Given the description of an element on the screen output the (x, y) to click on. 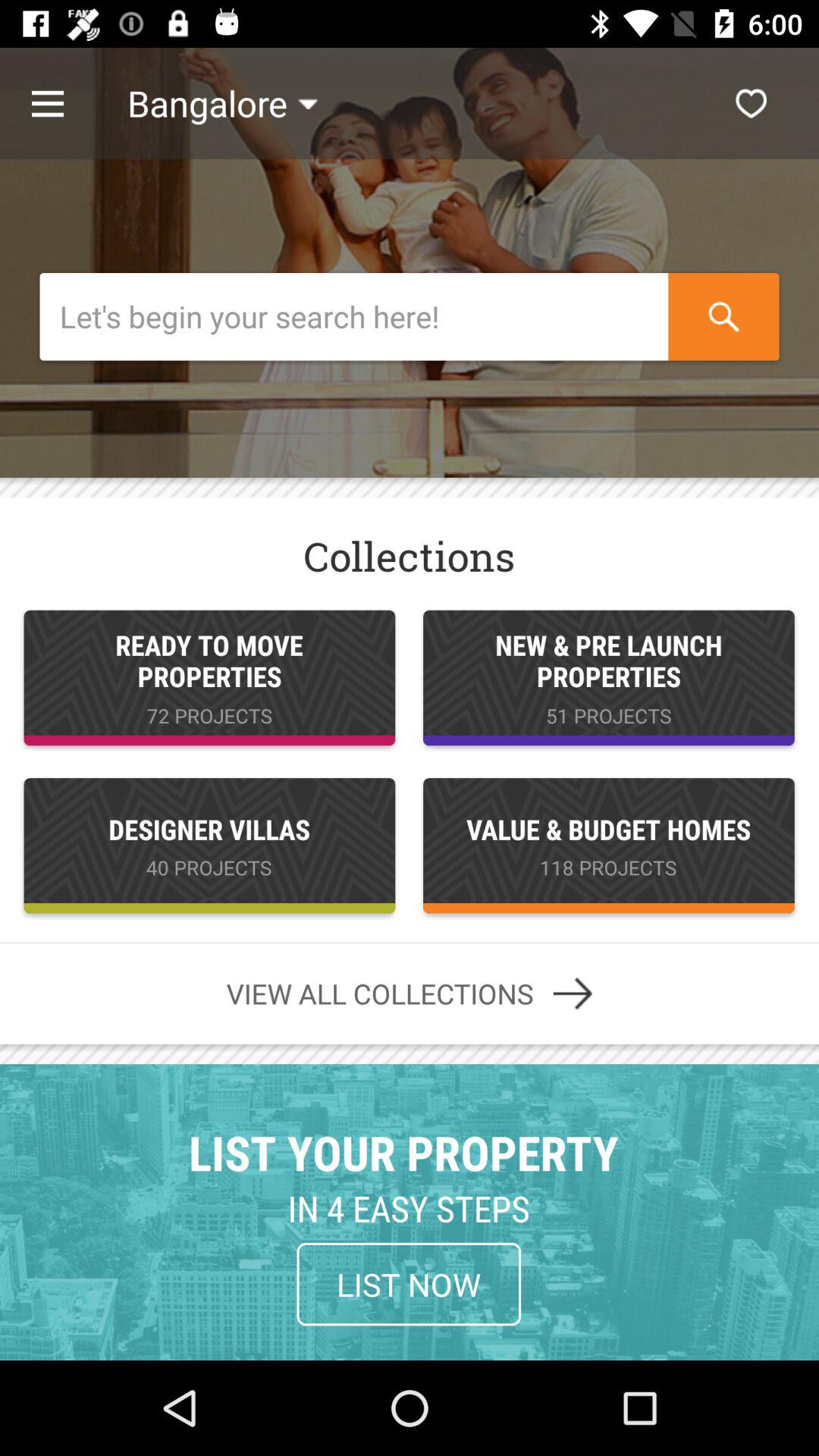
keep the content as most liked (751, 103)
